Given the description of an element on the screen output the (x, y) to click on. 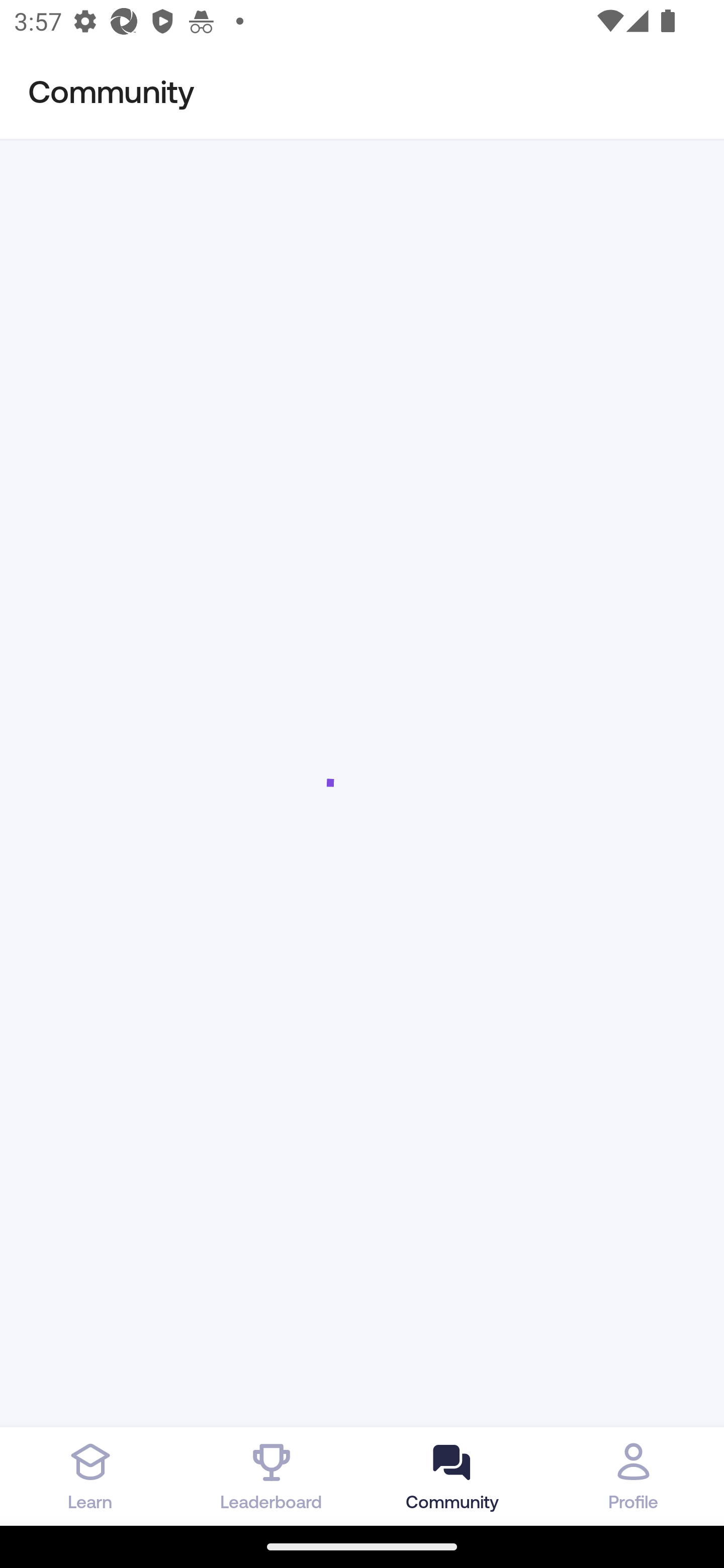
Learn (90, 1475)
Leaderboard (271, 1475)
Profile (633, 1475)
